Given the description of an element on the screen output the (x, y) to click on. 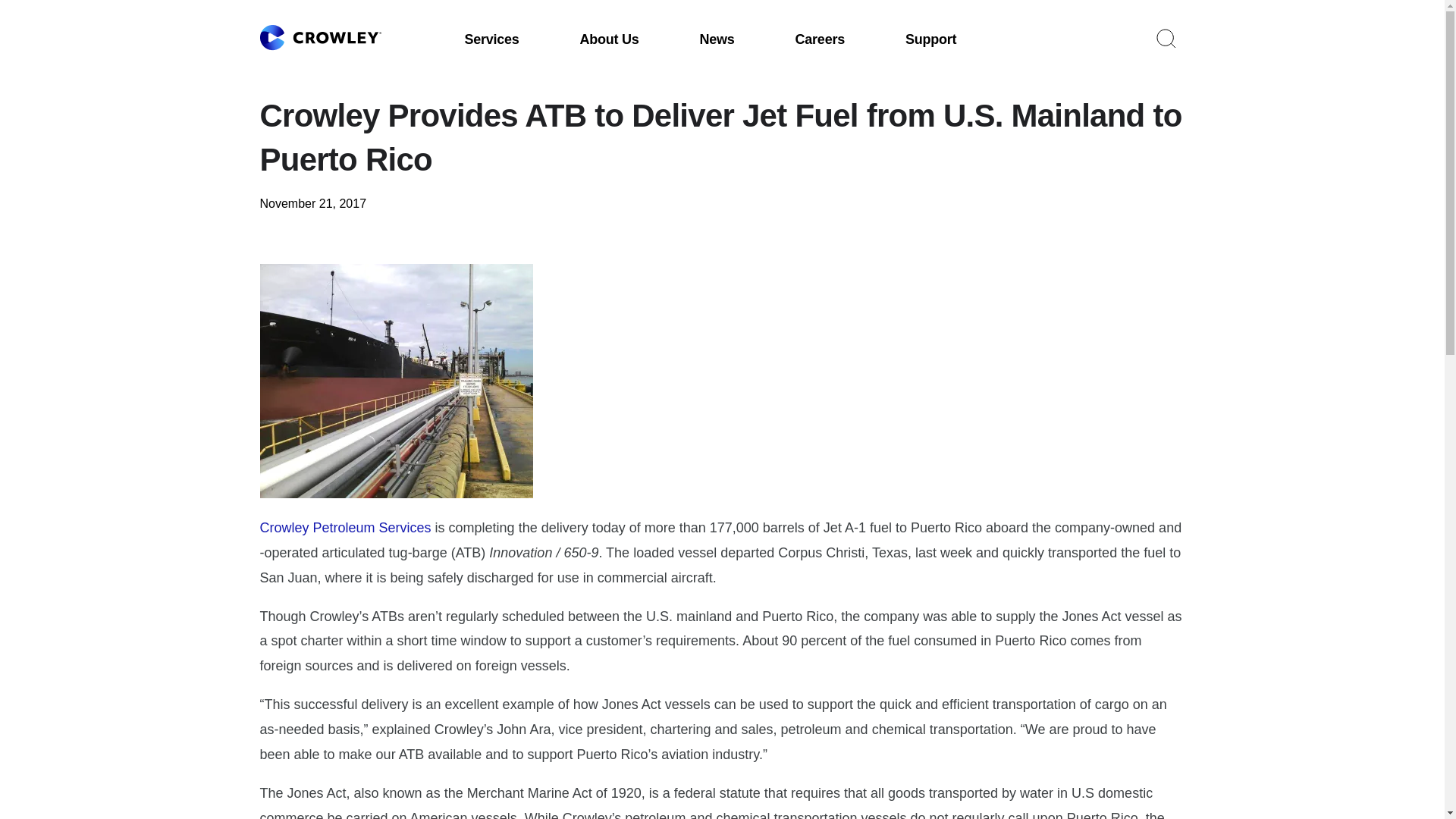
Page Sections (61, 4)
650-9-1 (395, 380)
Services (490, 39)
